Given the description of an element on the screen output the (x, y) to click on. 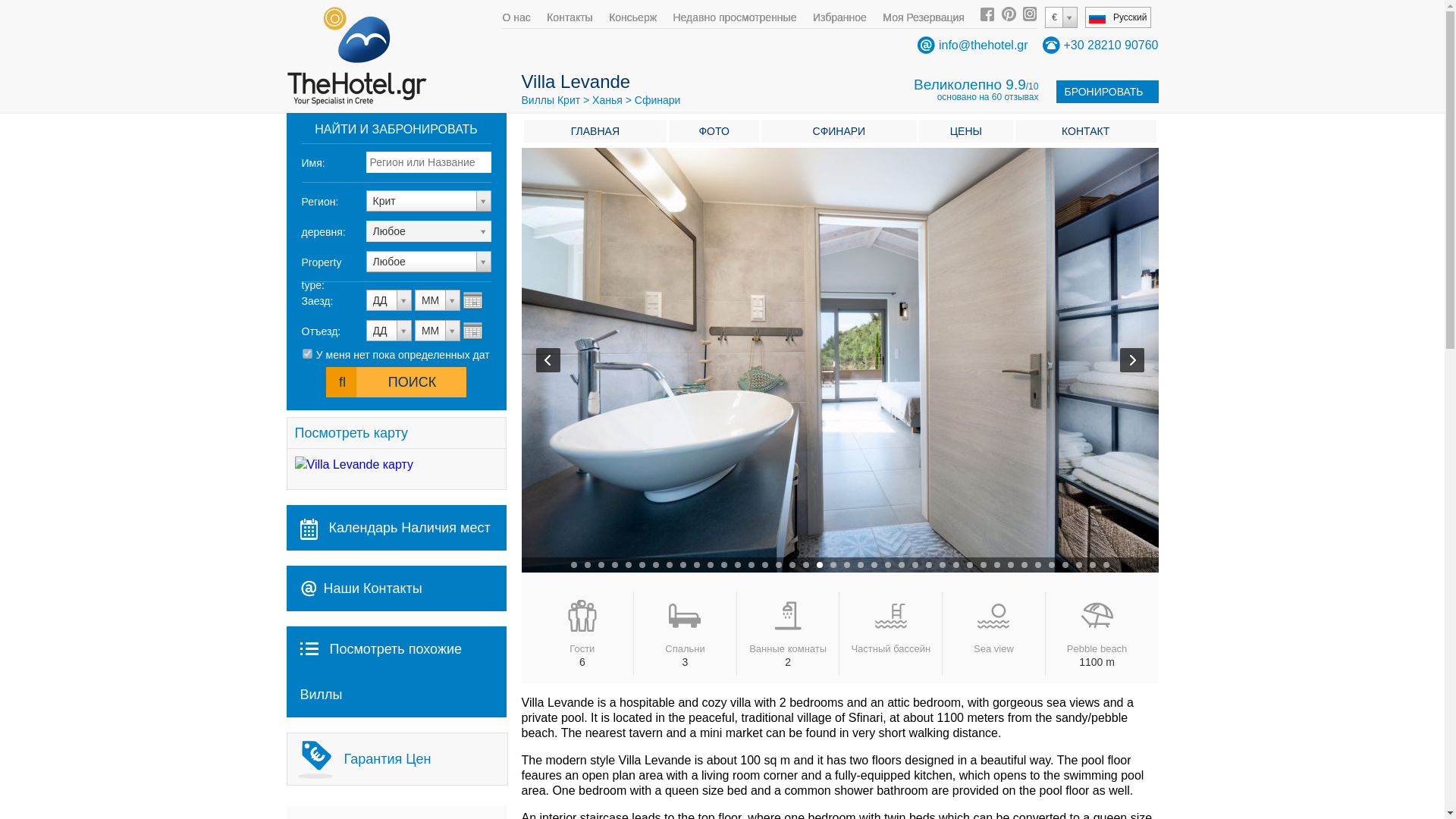
false (307, 353)
... (473, 330)
... (473, 299)
